Given the description of an element on the screen output the (x, y) to click on. 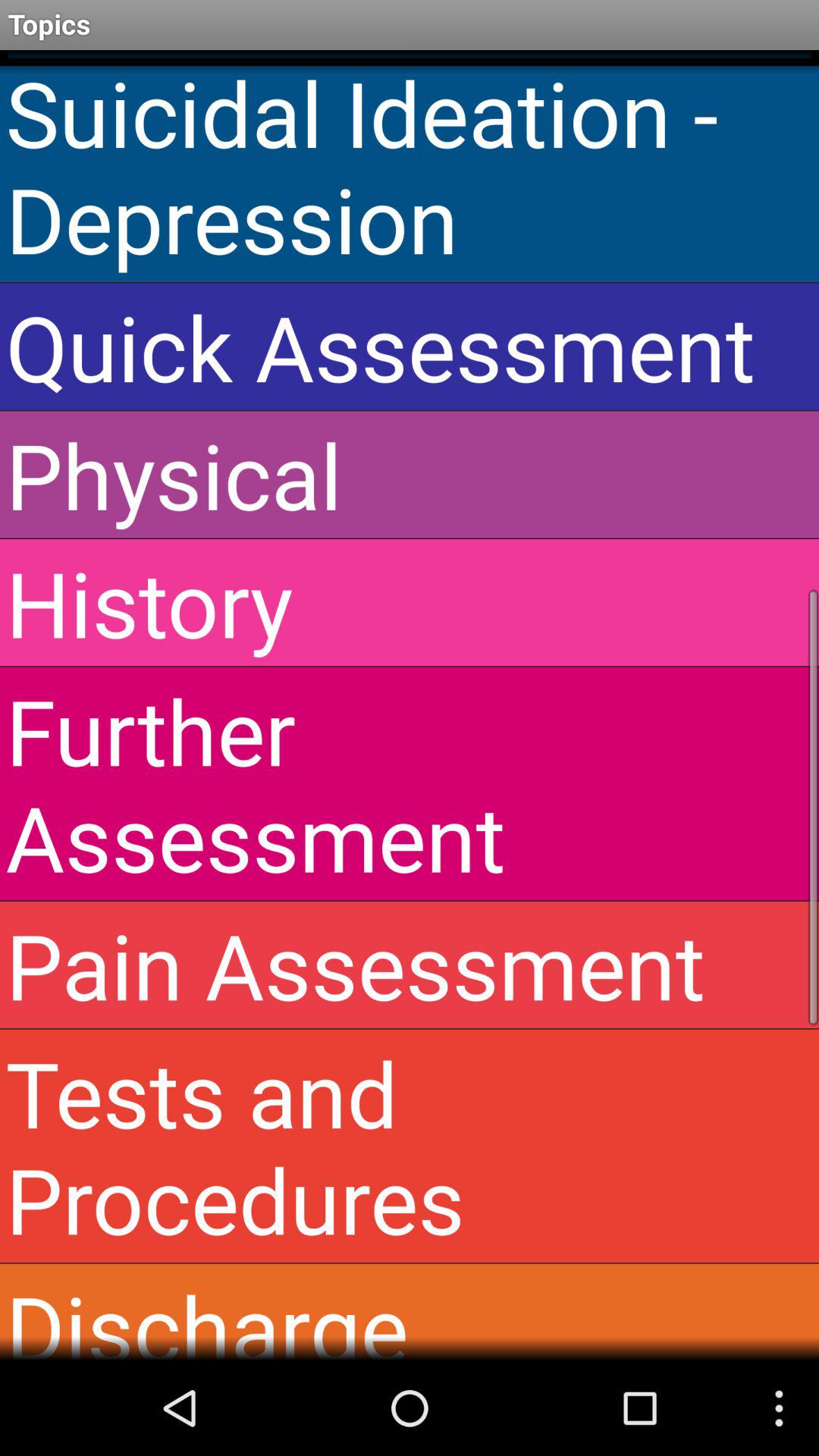
flip to further assessment icon (409, 783)
